Given the description of an element on the screen output the (x, y) to click on. 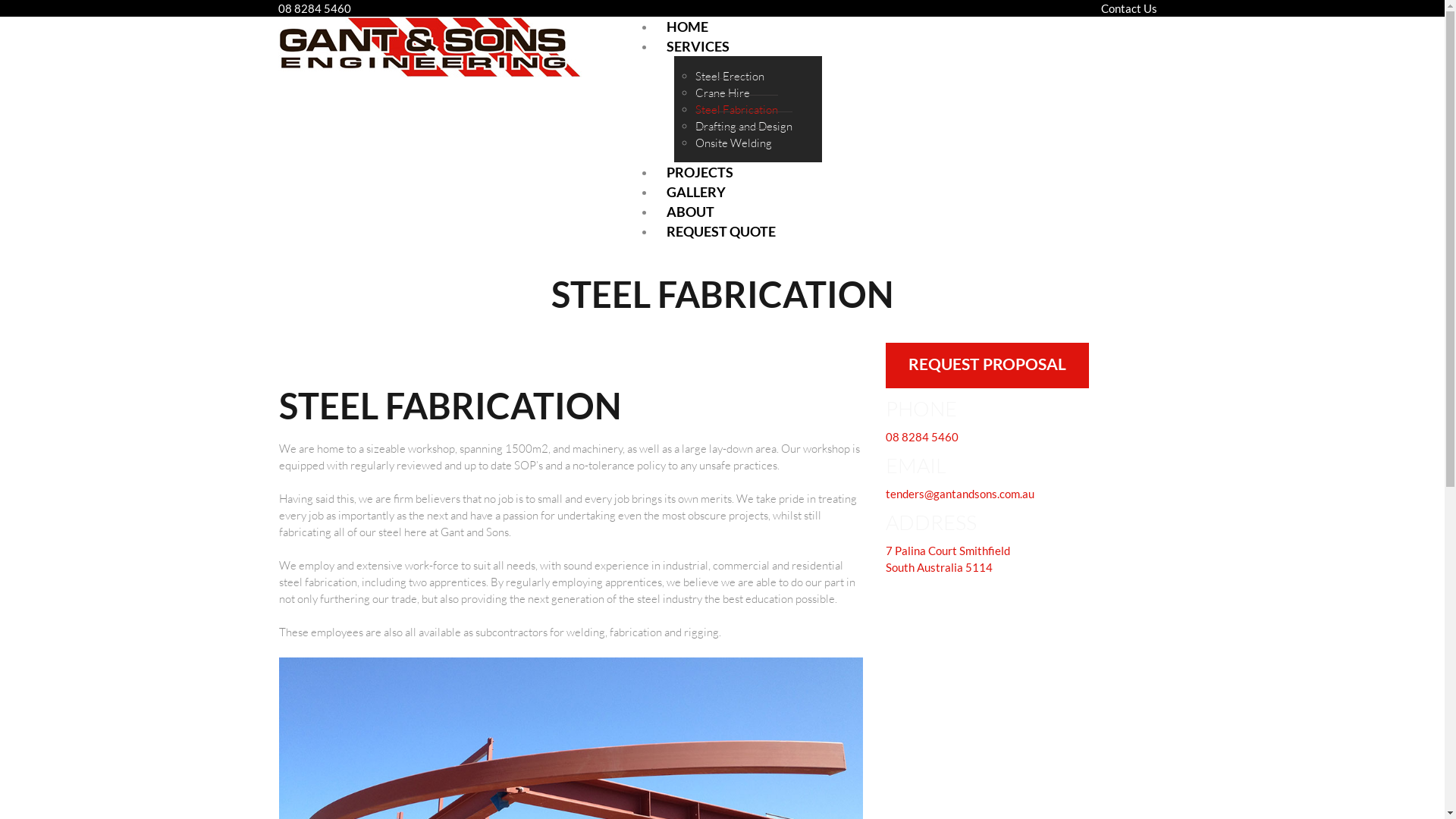
GALLERY Element type: text (696, 191)
tenders@gantandsons.com.au Element type: text (959, 493)
7 Palina Court Smithfield
South Australia 5114 Element type: text (947, 558)
REQUEST PROPOSAL Element type: text (986, 365)
ABOUT Element type: text (690, 211)
08 8284 5460 Element type: text (921, 436)
08 8284 5460 Element type: text (314, 8)
Steel Fabrication Element type: text (735, 109)
Crane Hire Element type: text (721, 92)
SERVICES Element type: text (697, 46)
Drafting and Design Element type: text (742, 126)
Contact Us Element type: text (1129, 8)
REQUEST QUOTE Element type: text (721, 231)
Steel Erection Element type: text (728, 76)
Onsite Welding Element type: text (732, 142)
PROJECTS Element type: text (699, 171)
Steel Fabrication, Crane Hire Element type: hover (429, 46)
